Given the description of an element on the screen output the (x, y) to click on. 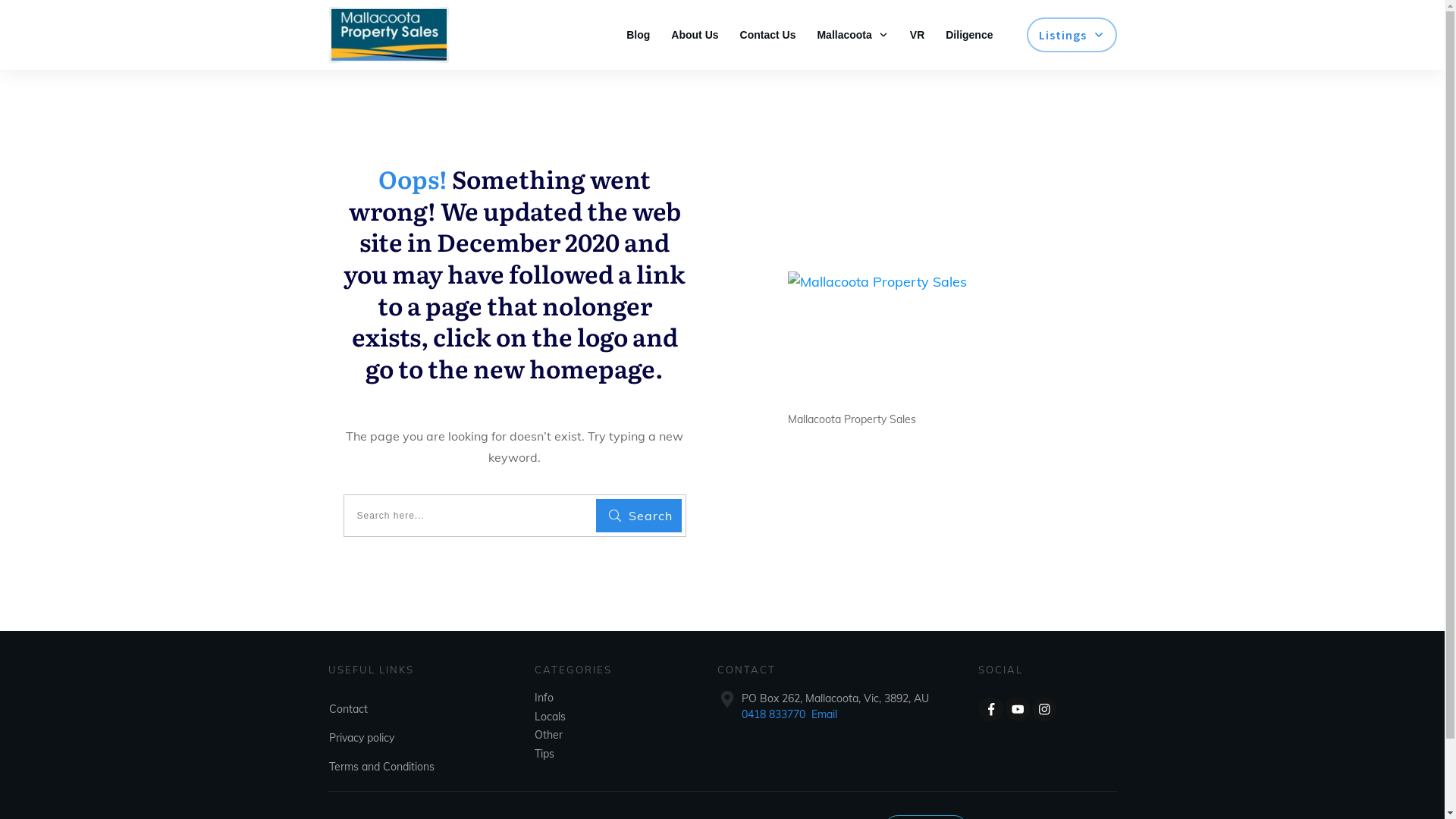
Terms and Conditions Element type: text (381, 766)
Locals Element type: text (549, 716)
Blog Element type: text (637, 34)
Contact Element type: text (348, 708)
Privacy policy Element type: text (361, 737)
Email Element type: text (824, 714)
Other Element type: text (548, 734)
Contact Us Element type: text (768, 34)
About Us Element type: text (694, 34)
Mallacoota Element type: text (852, 34)
0418 833770 Element type: text (773, 714)
VR Element type: text (917, 34)
Diligence Element type: text (968, 34)
Mallacoota Property Sales -logo 400 Element type: hover (929, 338)
Info Element type: text (543, 697)
Listings Element type: text (1071, 34)
Search Element type: text (638, 515)
Tips Element type: text (544, 753)
